Given the description of an element on the screen output the (x, y) to click on. 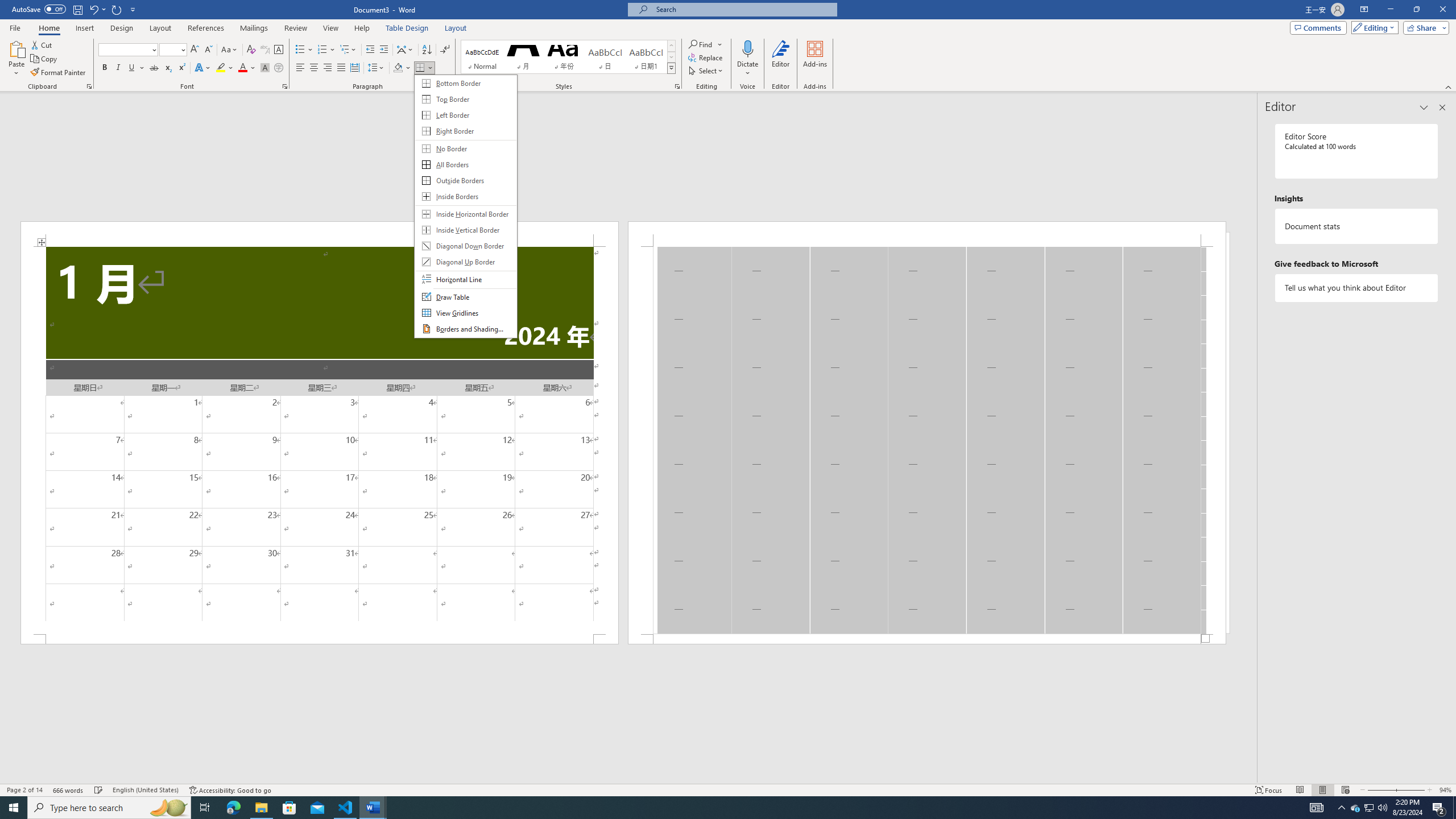
Running applications (717, 807)
